Given the description of an element on the screen output the (x, y) to click on. 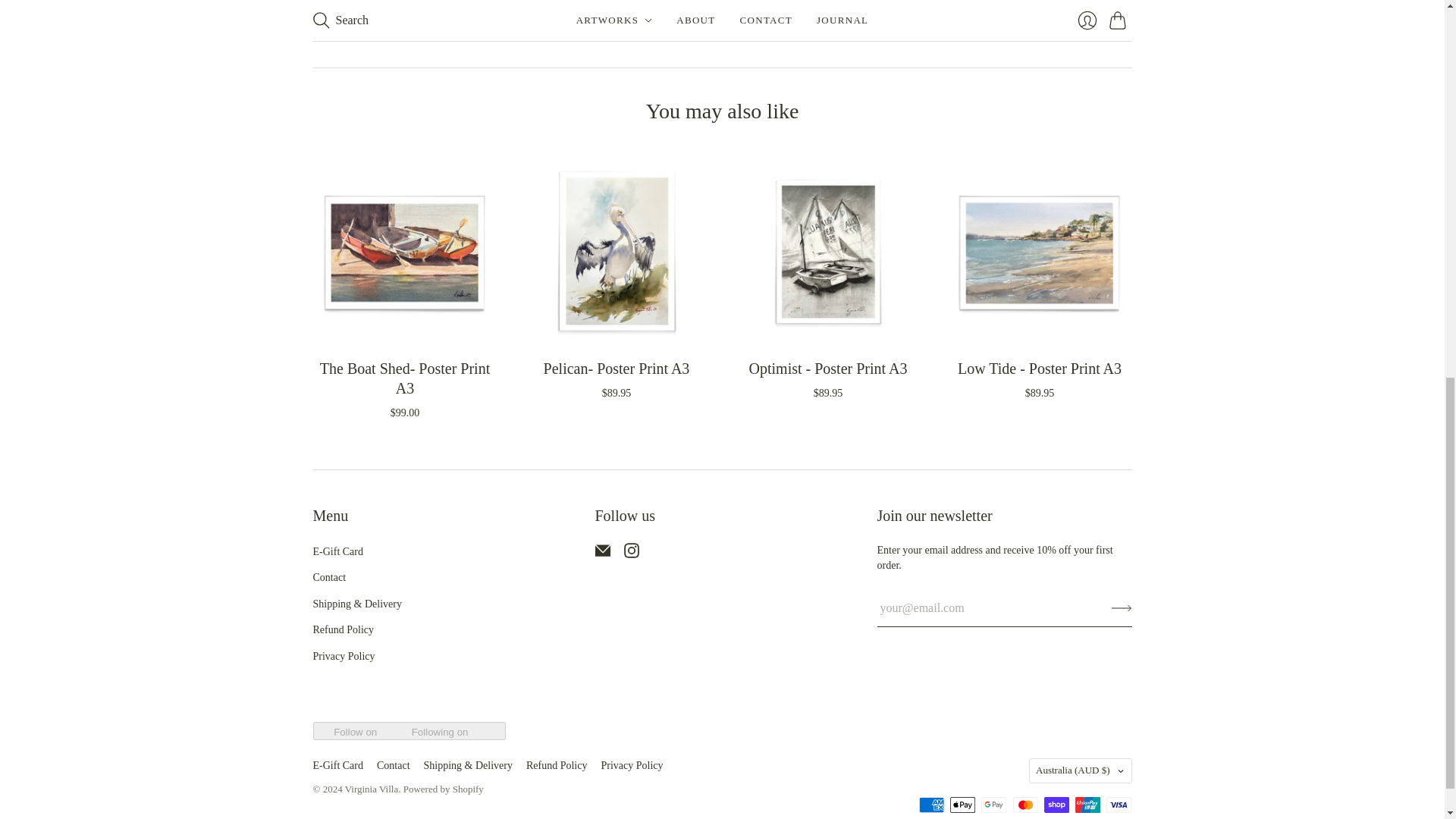
Optimist - Poster Print A3 (828, 368)
Pelican- Poster Print A3 (616, 368)
The Boat Shed- Poster Print A3 (404, 378)
